Given the description of an element on the screen output the (x, y) to click on. 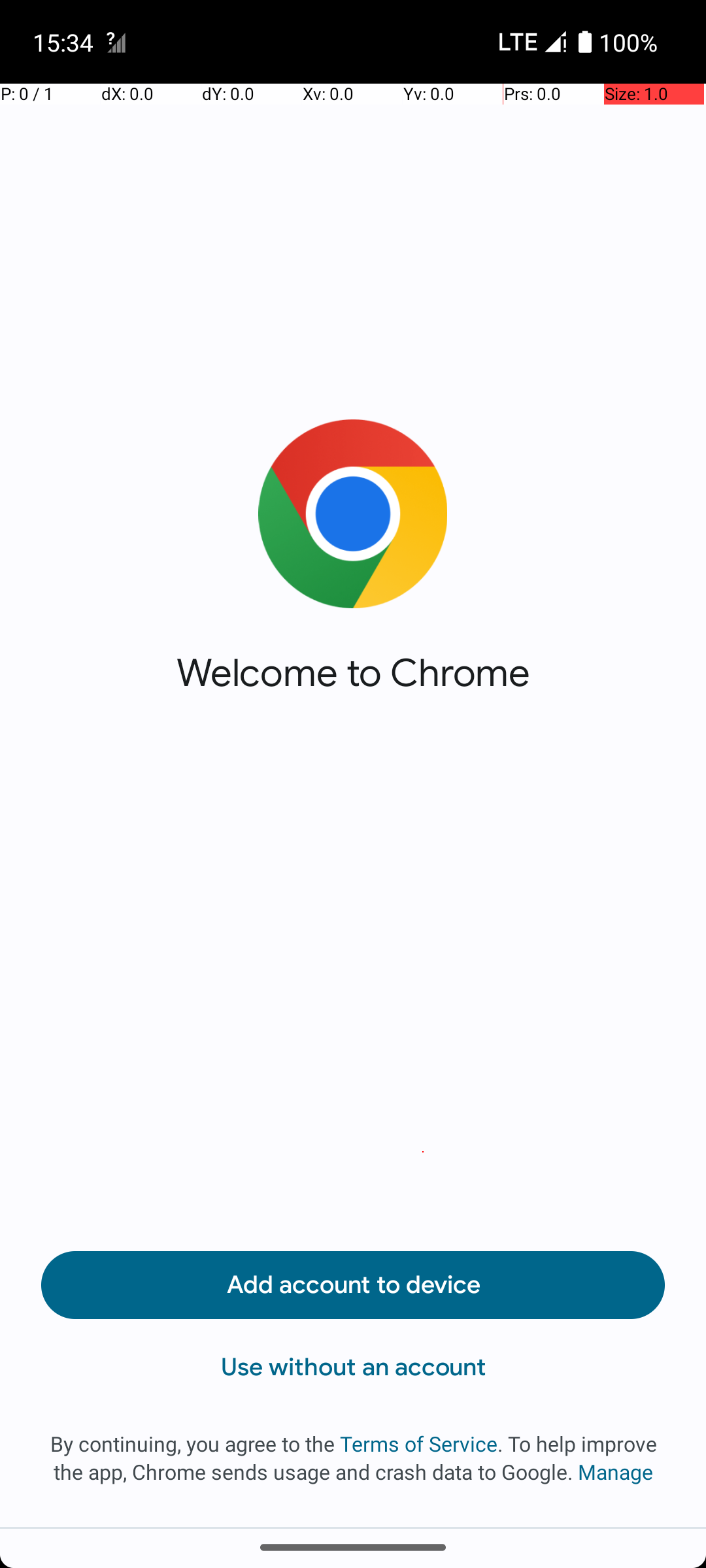
Android System notification: Sign in to network Element type: android.widget.ImageView (115, 41)
